Given the description of an element on the screen output the (x, y) to click on. 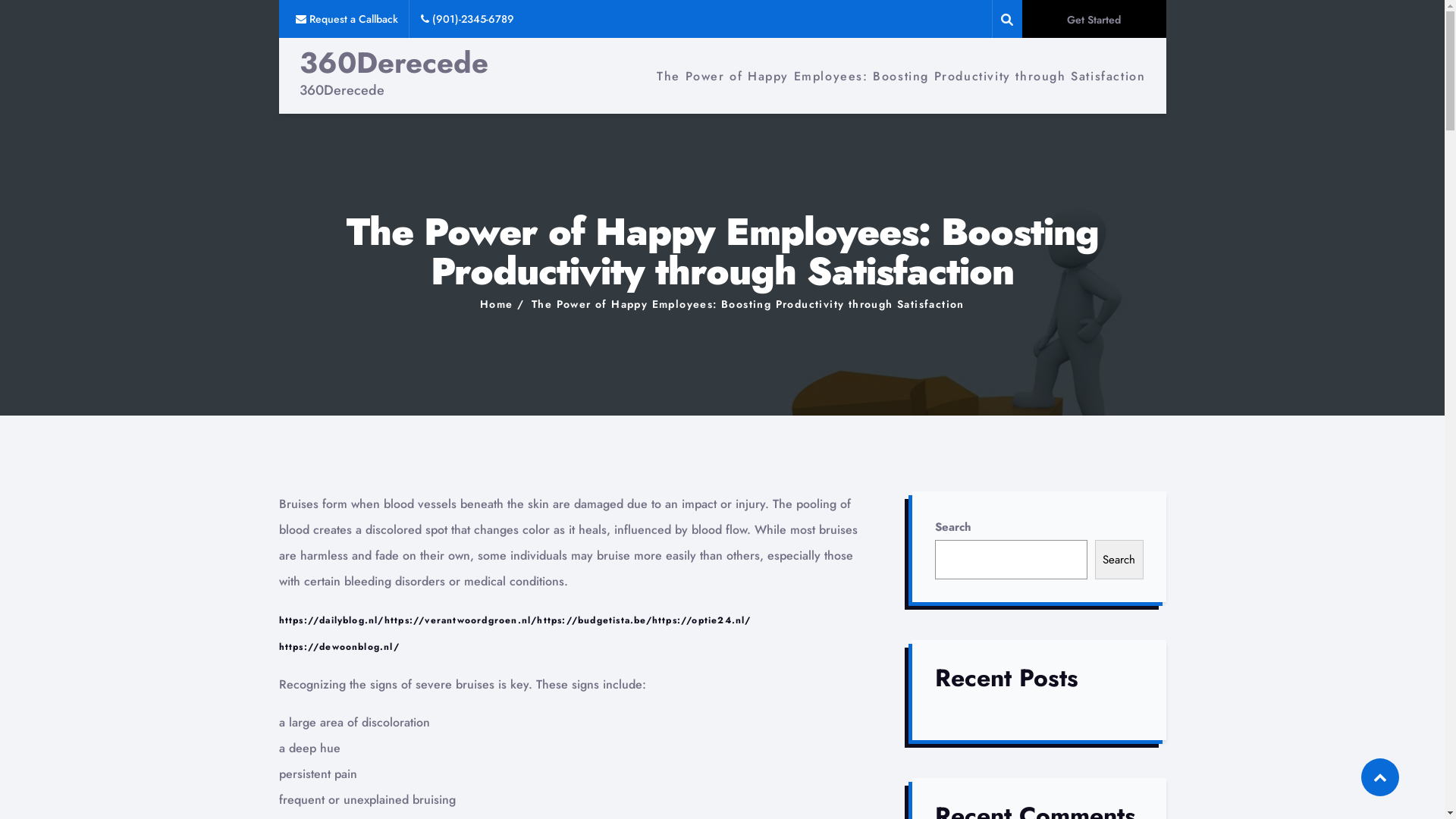
Home Element type: text (496, 303)
360Derecede Element type: text (392, 62)
https://verantwoordgroen.nl/ Element type: text (460, 620)
https://dewoonblog.nl/ Element type: text (339, 646)
https://optie24.nl/ Element type: text (701, 620)
Search Element type: text (1119, 559)
https://dailyblog.nl/ Element type: text (331, 620)
https://budgetista.be/ Element type: text (593, 620)
Get Started Element type: text (1094, 18)
